Given the description of an element on the screen output the (x, y) to click on. 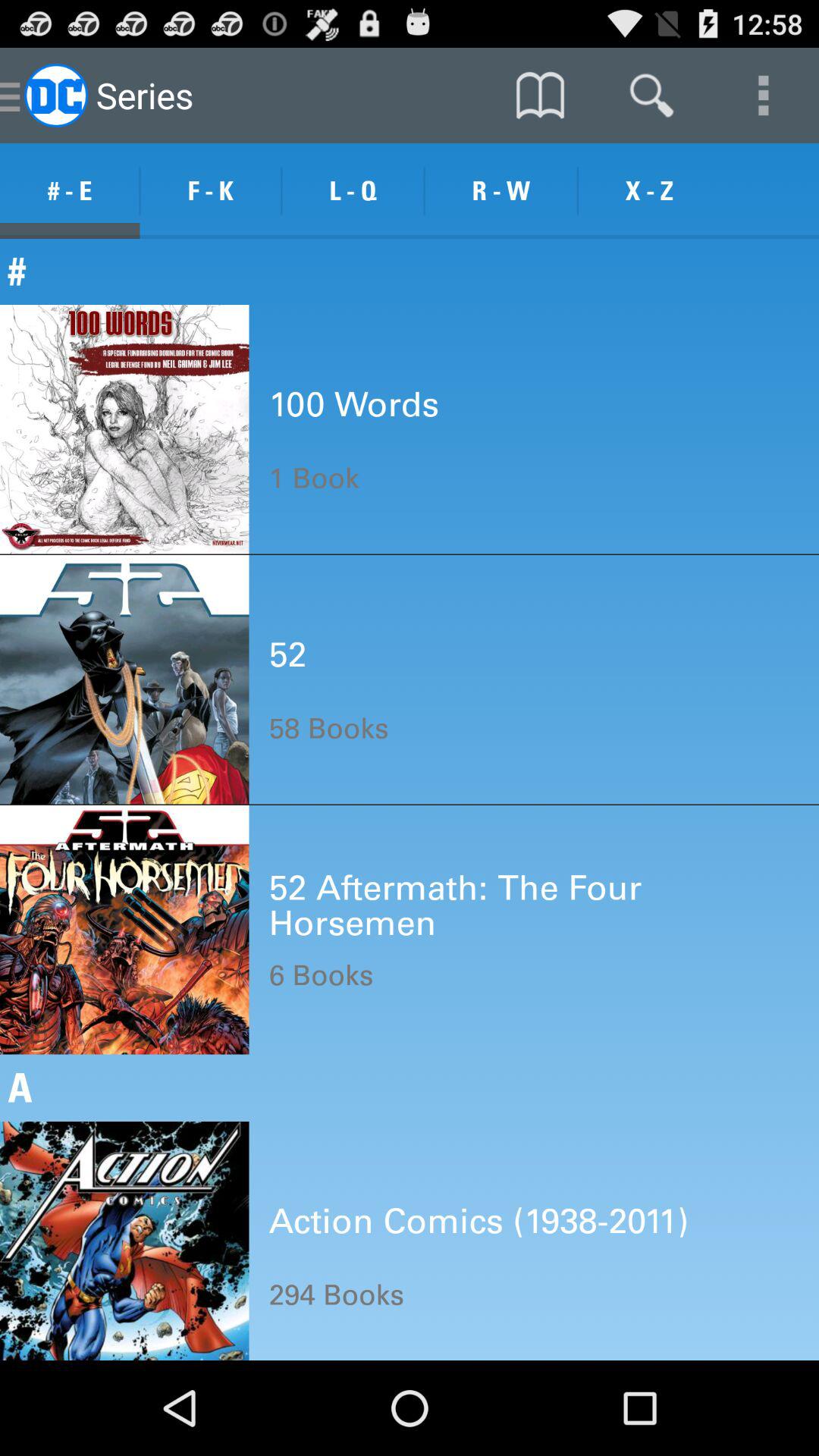
choose item next to the # - e item (210, 190)
